Given the description of an element on the screen output the (x, y) to click on. 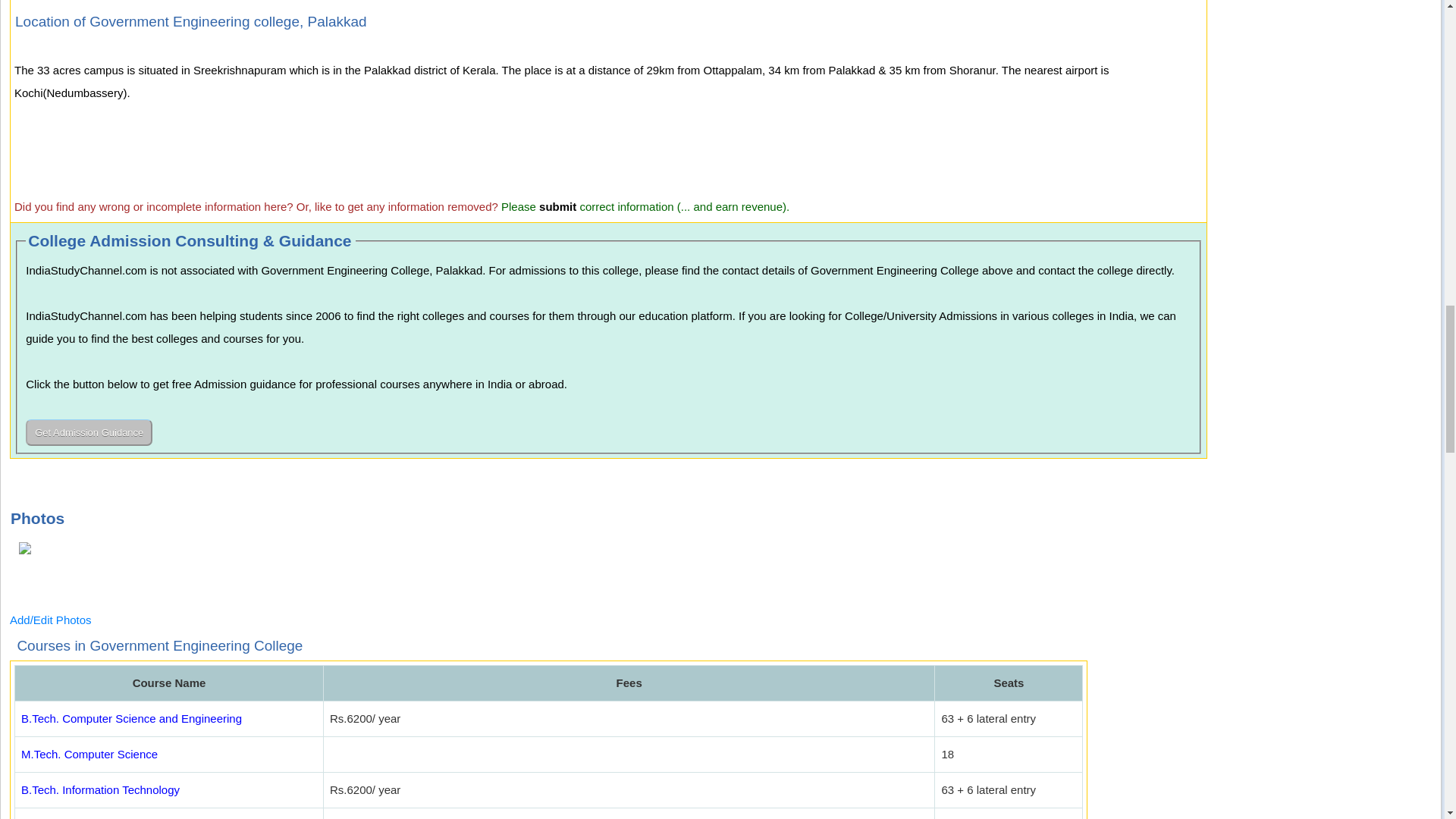
Get Admission Guidance (89, 432)
submit (557, 205)
Get Admission Guidance (89, 432)
B.Tech. Computer Science and Engineering (131, 717)
